Given the description of an element on the screen output the (x, y) to click on. 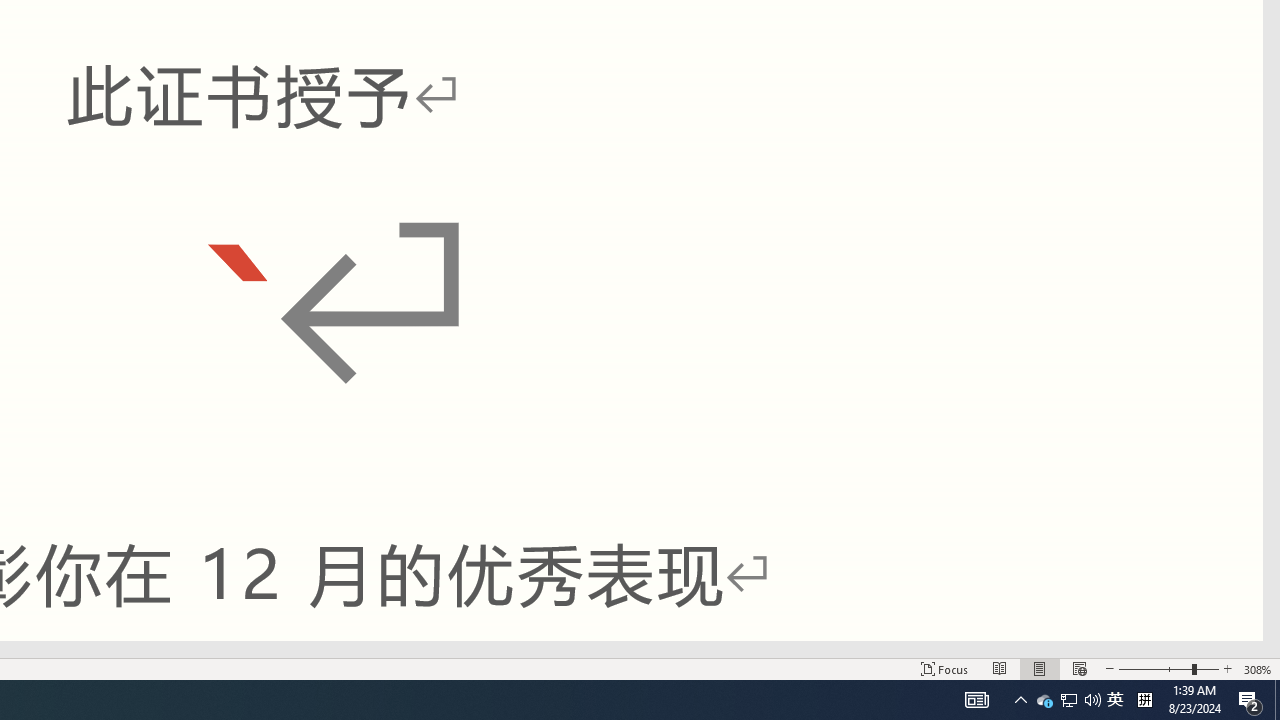
Action Center, 2 new notifications (1250, 699)
Show desktop (1277, 699)
Q2790: 100% (1092, 699)
Zoom 308% (1258, 668)
AutomationID: 4105 (1115, 699)
Notification Chevron (976, 699)
Zoom (1020, 699)
